Given the description of an element on the screen output the (x, y) to click on. 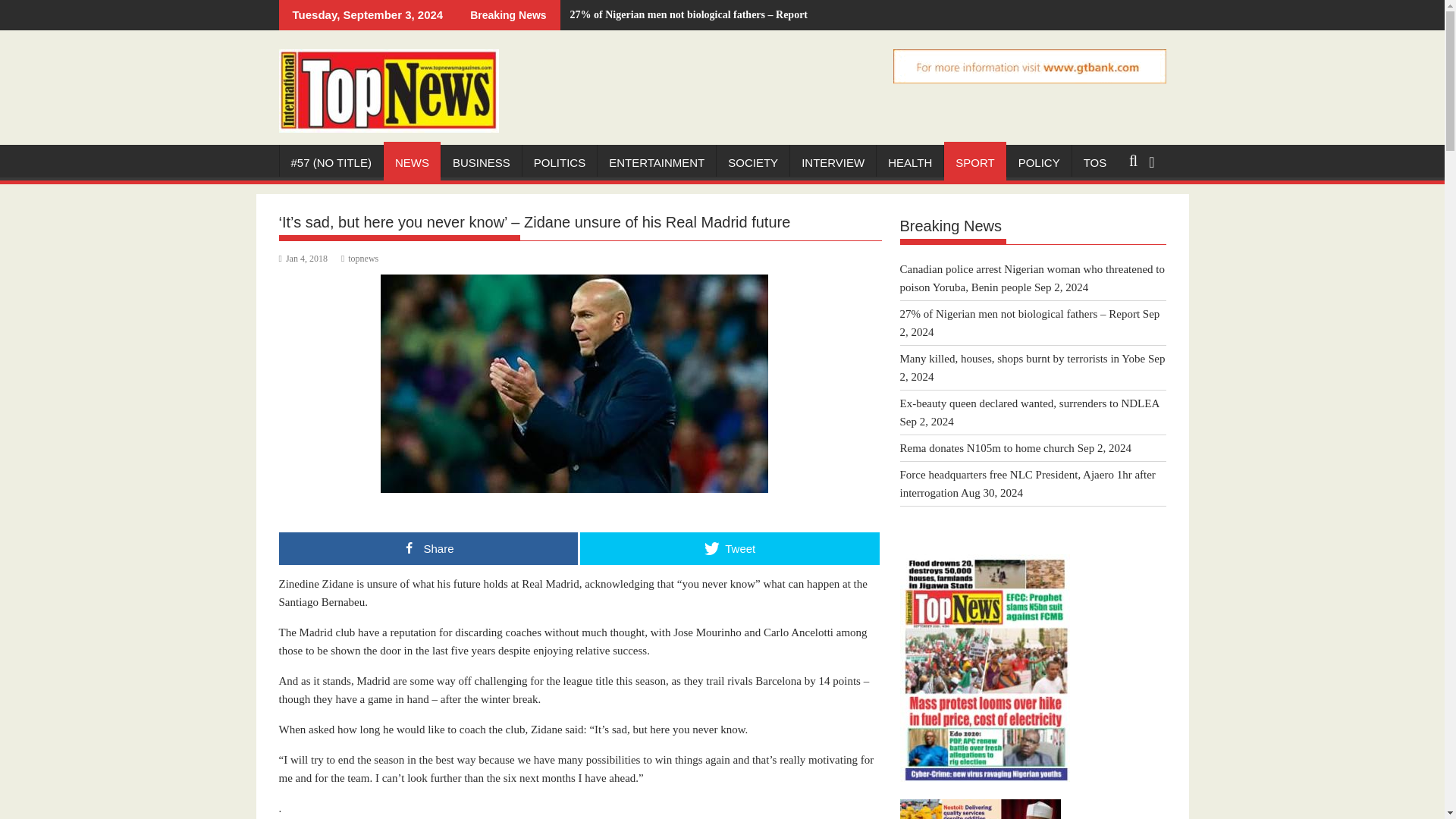
POLICY (1039, 162)
SPORT (974, 162)
topnews (359, 258)
Tweet (729, 548)
SOCIETY (752, 162)
Share (428, 548)
ENTERTAINMENT (656, 162)
BUSINESS (481, 162)
TOS (1094, 162)
NEWS (412, 162)
